Given the description of an element on the screen output the (x, y) to click on. 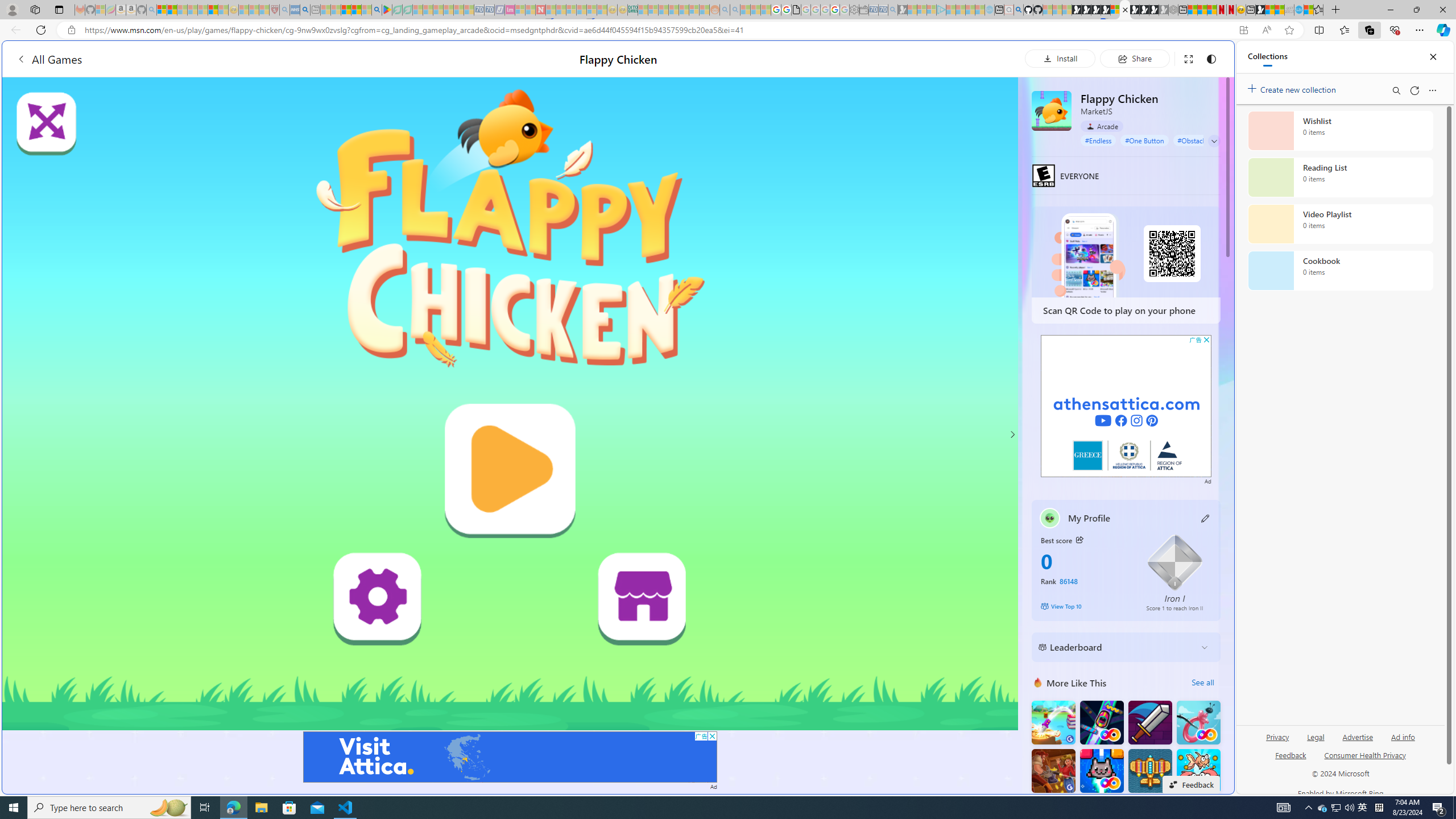
Arcade (1101, 125)
Class: control (1214, 140)
Frequently visited (965, 151)
Class: button edit-icon (1205, 517)
All Games (49, 58)
